Given the description of an element on the screen output the (x, y) to click on. 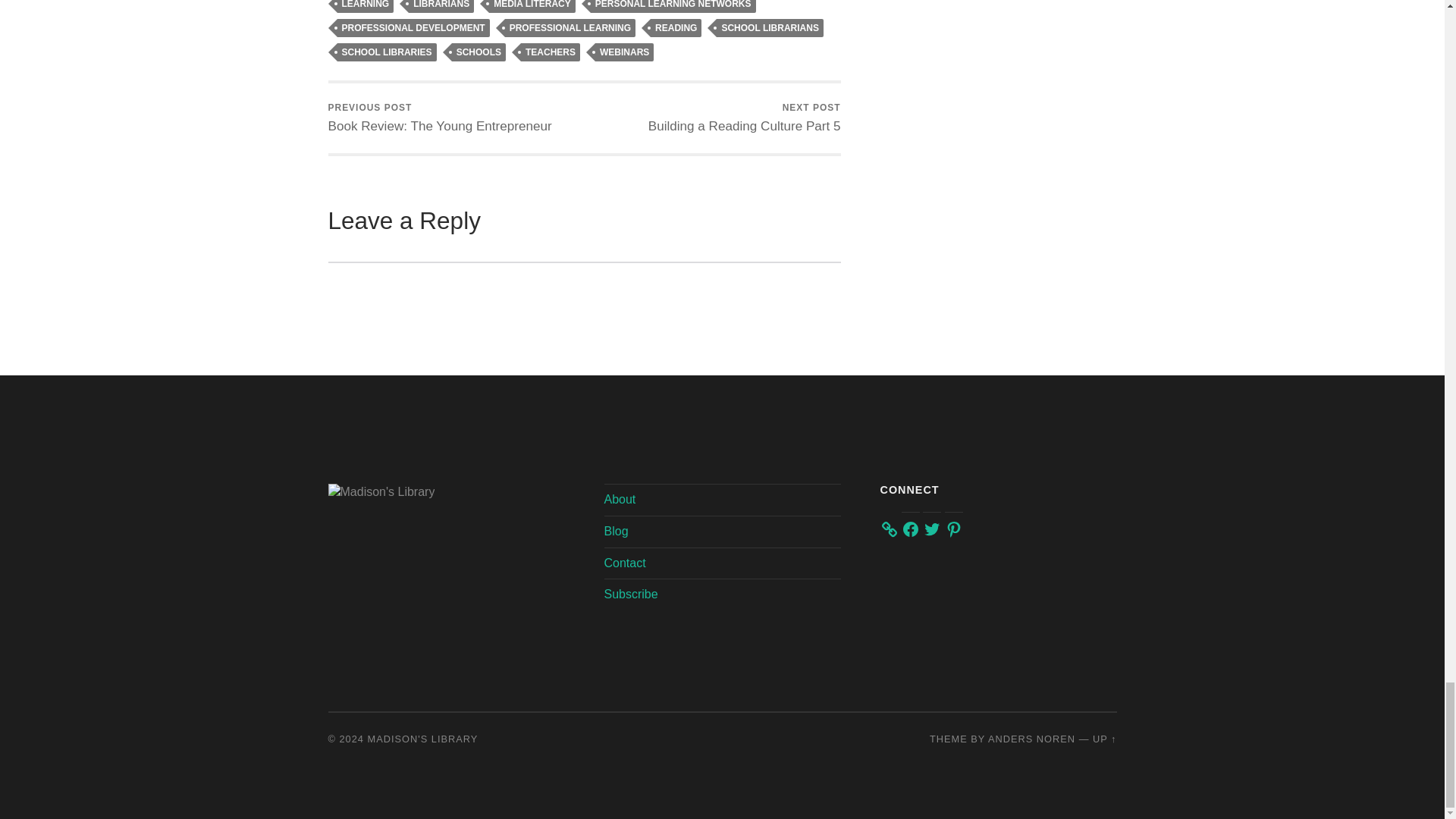
To the top (1104, 738)
